Given the description of an element on the screen output the (x, y) to click on. 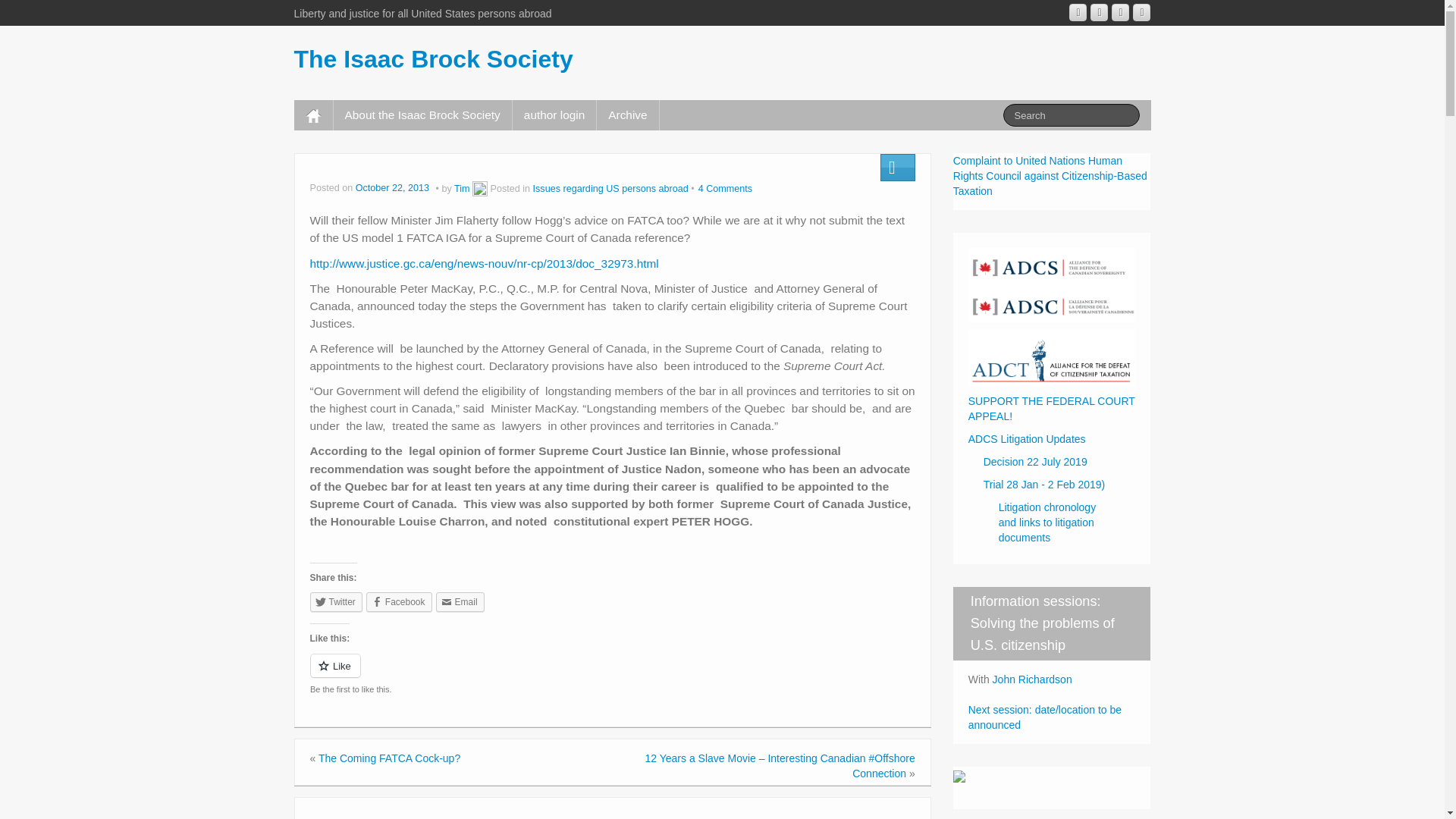
ADCS Litigation Updates (1052, 438)
author login (553, 114)
Tim (462, 188)
The Isaac Brock Society Googleplus (1077, 12)
Click to share on Twitter (334, 601)
The Coming FATCA Cock-up? (389, 758)
October 22, 2013 (393, 188)
View all posts by Tim (462, 188)
The Isaac Brock Society (433, 58)
Share on Facebook (399, 601)
ADCT (1051, 357)
The Isaac Brock Society Twitter (1141, 12)
The Isaac Brock Society (433, 58)
Email (459, 601)
Twitter (334, 601)
